Given the description of an element on the screen output the (x, y) to click on. 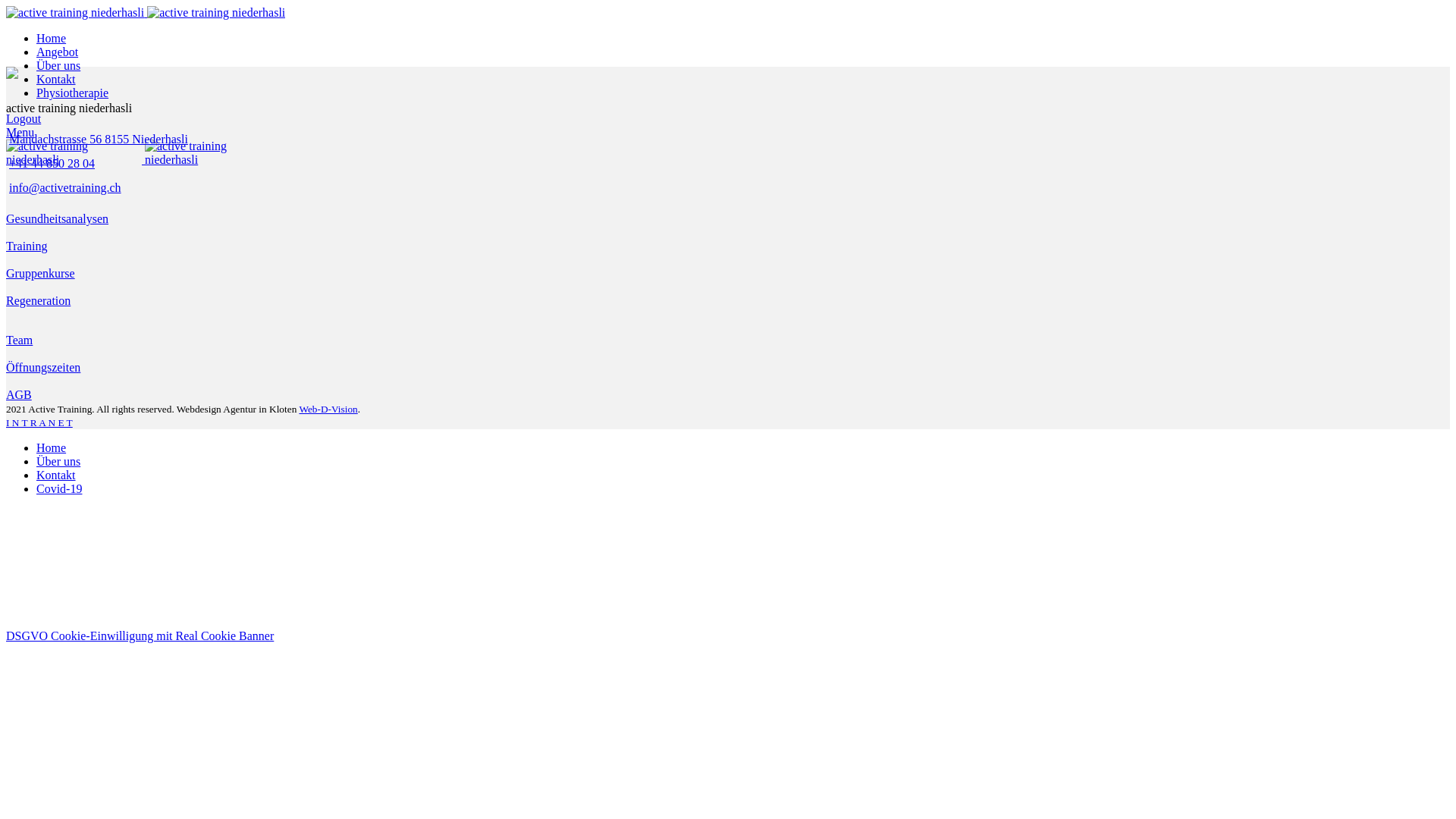
Covid-19 Element type: text (58, 488)
Gruppenkurse Element type: text (40, 272)
Team Element type: text (19, 339)
Logout Element type: text (23, 118)
Home Element type: text (50, 447)
Kontakt Element type: text (55, 474)
Regeneration Element type: text (38, 300)
I N T R A N E T Element type: text (39, 422)
Training Element type: text (26, 245)
+41 44 850 28 04 Element type: text (51, 162)
Home Element type: text (50, 37)
Web-D-Vision Element type: text (327, 408)
AGB Element type: text (18, 394)
Gesundheitsanalysen Element type: text (57, 218)
info@activetraining.ch Element type: text (65, 187)
Physiotherapie Element type: text (72, 92)
Kontakt Element type: text (55, 78)
Angebot Element type: text (57, 51)
DSGVO Cookie-Einwilligung mit Real Cookie Banner Element type: text (139, 635)
Mandachstrasse 56 8155 Niederhasli Element type: text (98, 138)
Menu Element type: text (20, 131)
